Given the description of an element on the screen output the (x, y) to click on. 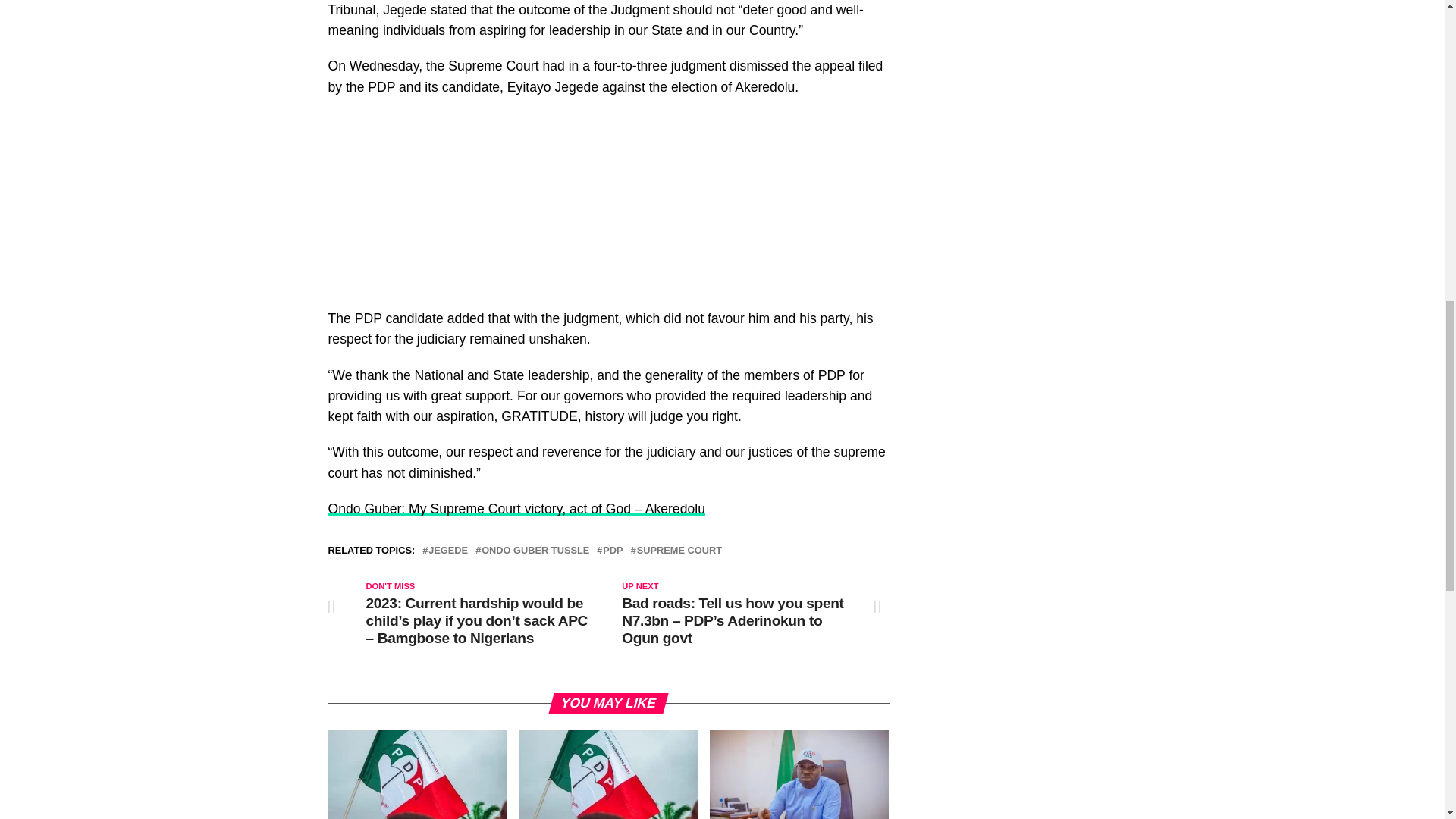
SUPREME COURT (679, 551)
ONDO GUBER TUSSLE (535, 551)
PDP (612, 551)
JEGEDE (447, 551)
